Given the description of an element on the screen output the (x, y) to click on. 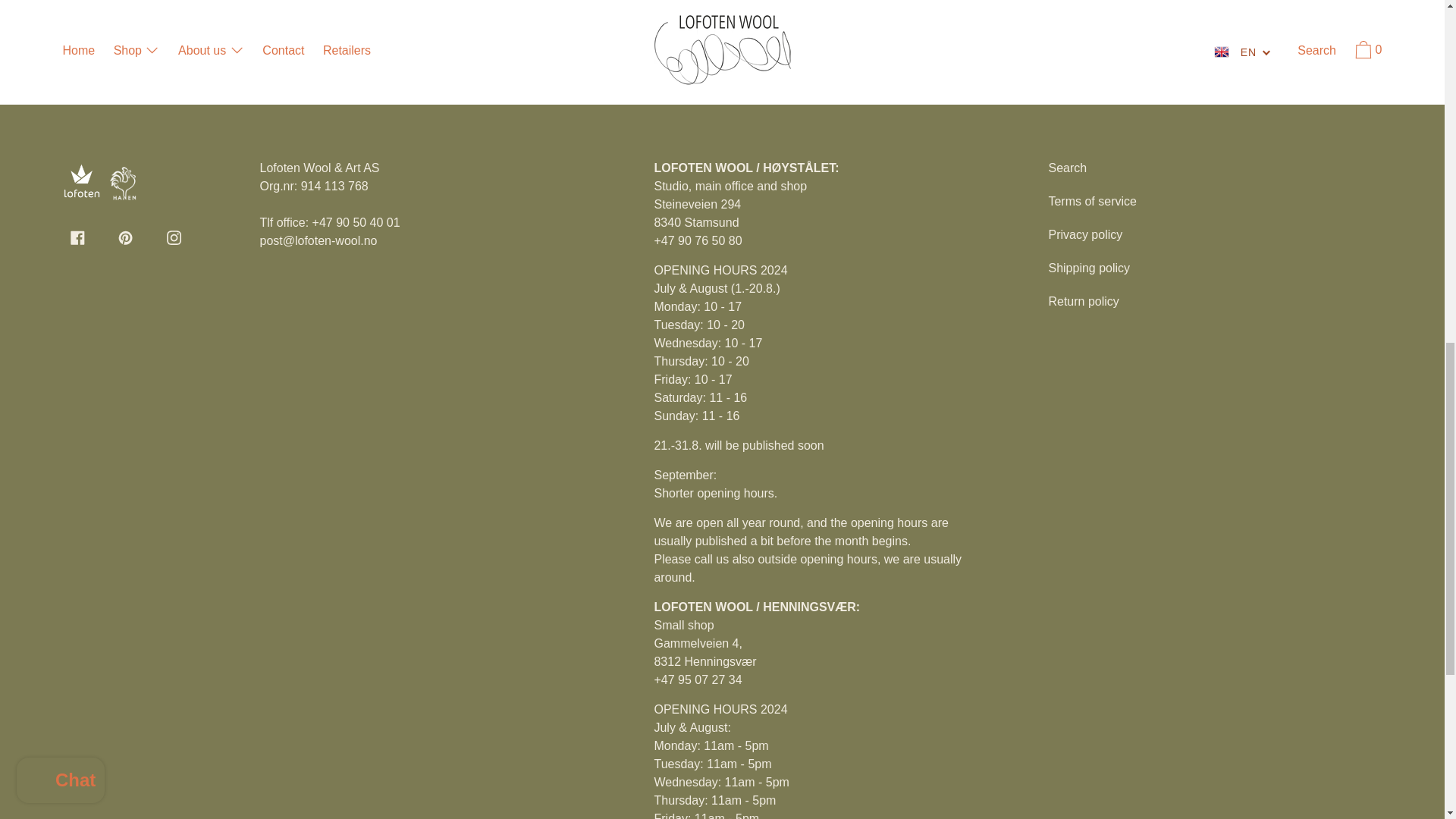
Lofoten Wool on Instagram (173, 237)
Lofoten Wool on Facebook (77, 237)
Lofoten Wool on Pinterest (125, 237)
